Given the description of an element on the screen output the (x, y) to click on. 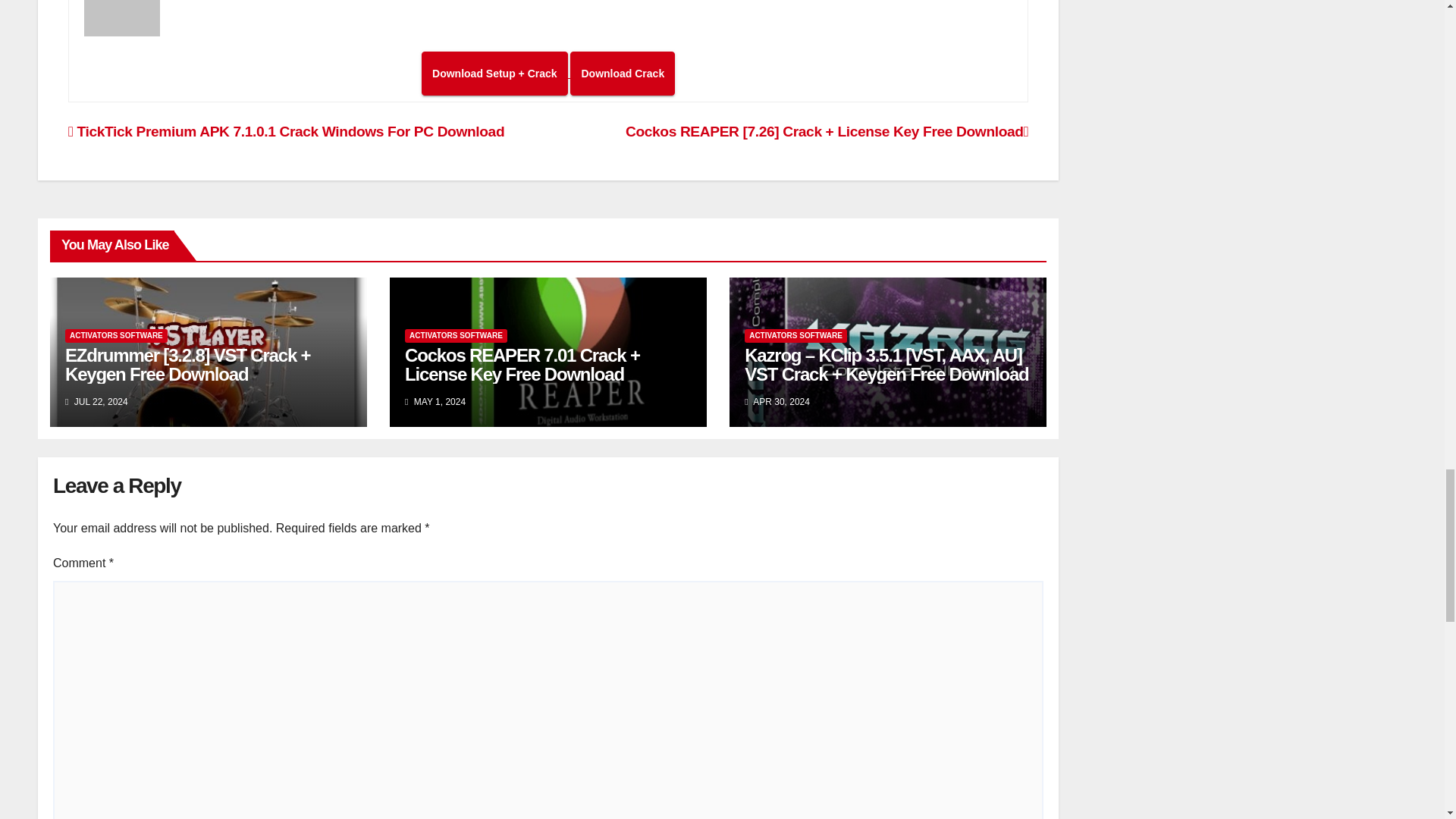
Download Crack (622, 73)
ACTIVATORS SOFTWARE (116, 336)
TickTick Premium APK 7.1.0.1 Crack Windows For PC Download (285, 131)
ACTIVATORS SOFTWARE (455, 336)
